Given the description of an element on the screen output the (x, y) to click on. 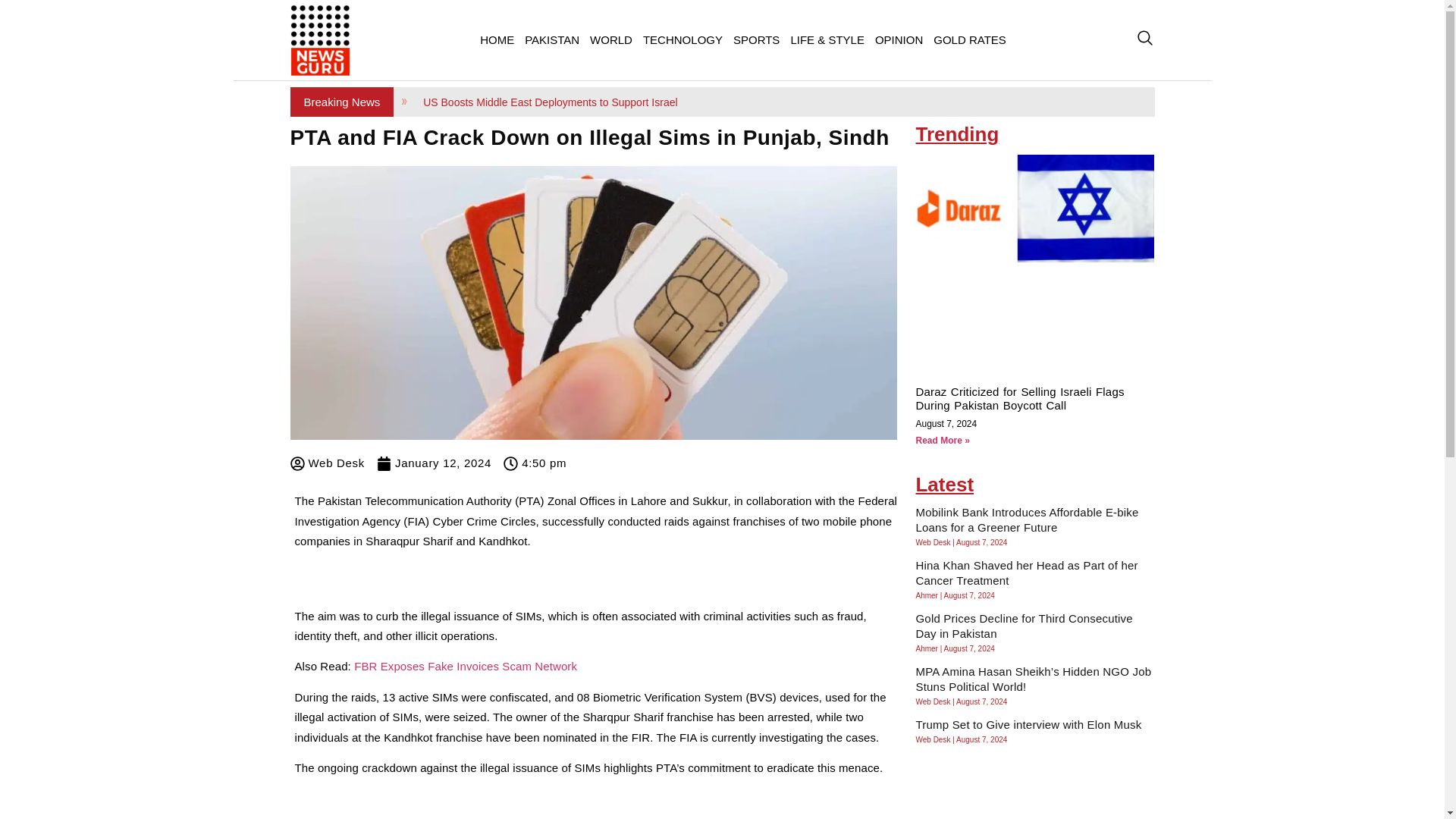
PAKISTAN (552, 39)
GOLD RATES (969, 39)
HOME (496, 39)
WORLD (611, 39)
OPINION (898, 39)
SPORTS (756, 39)
TECHNOLOGY (682, 39)
